Given the description of an element on the screen output the (x, y) to click on. 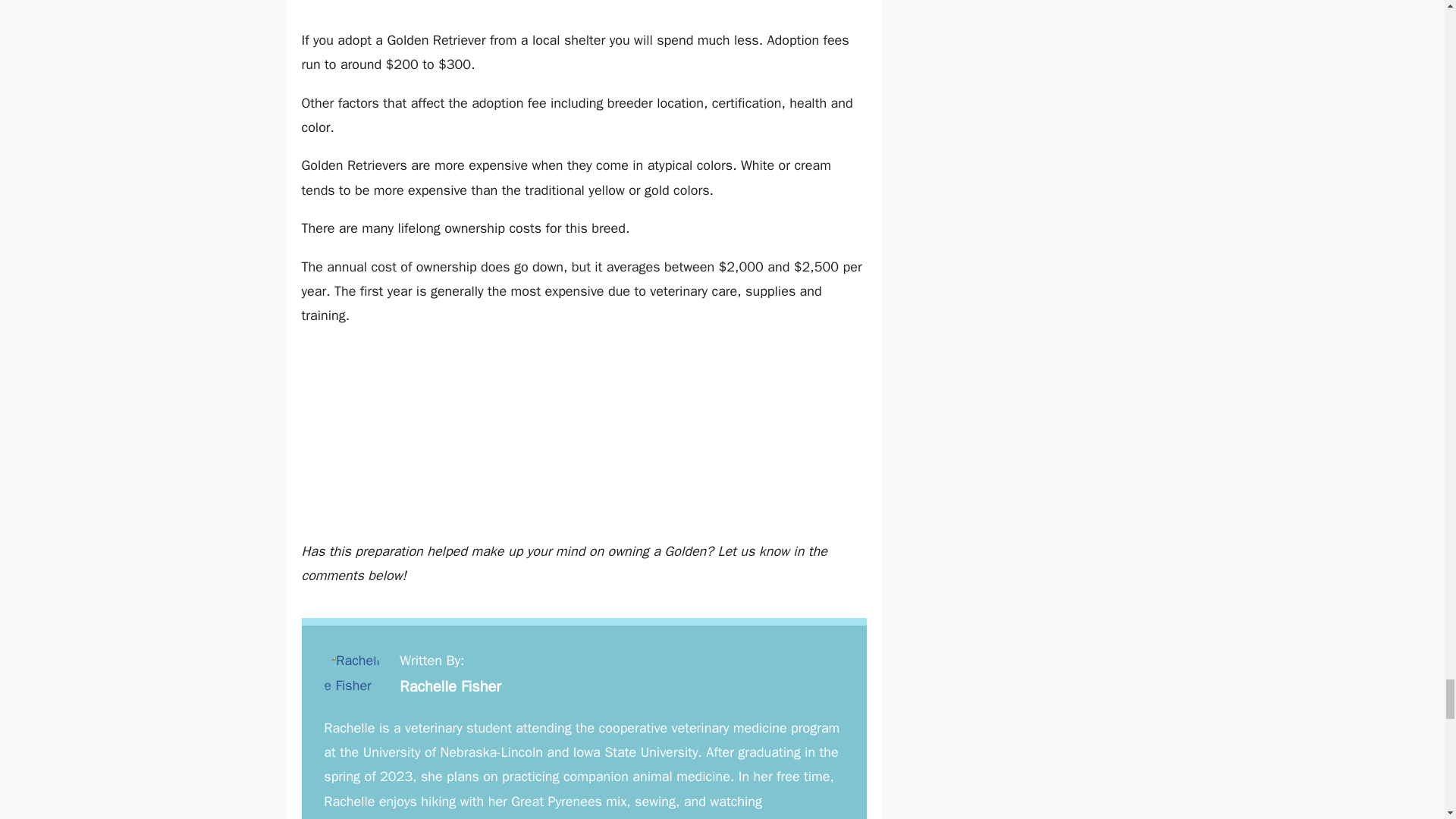
Read more about Rachelle Fisher (449, 686)
